Given the description of an element on the screen output the (x, y) to click on. 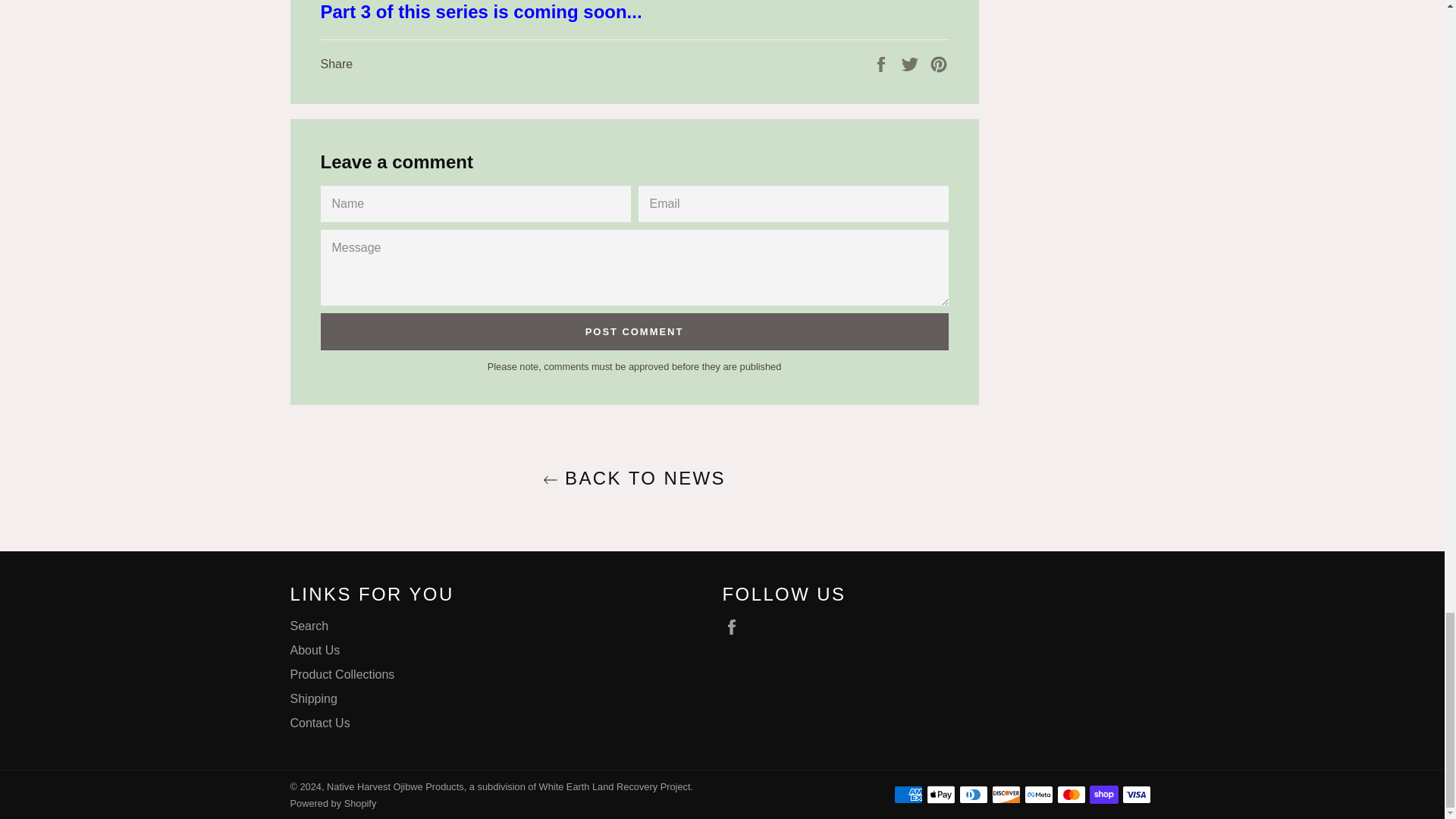
Post comment (633, 331)
Pin on Pinterest (938, 62)
Share on Facebook (882, 62)
Post comment (633, 331)
Pin on Pinterest (938, 62)
Share on Facebook (882, 62)
Tweet on Twitter (911, 62)
BACK TO NEWS (633, 478)
Tweet on Twitter (911, 62)
